Given the description of an element on the screen output the (x, y) to click on. 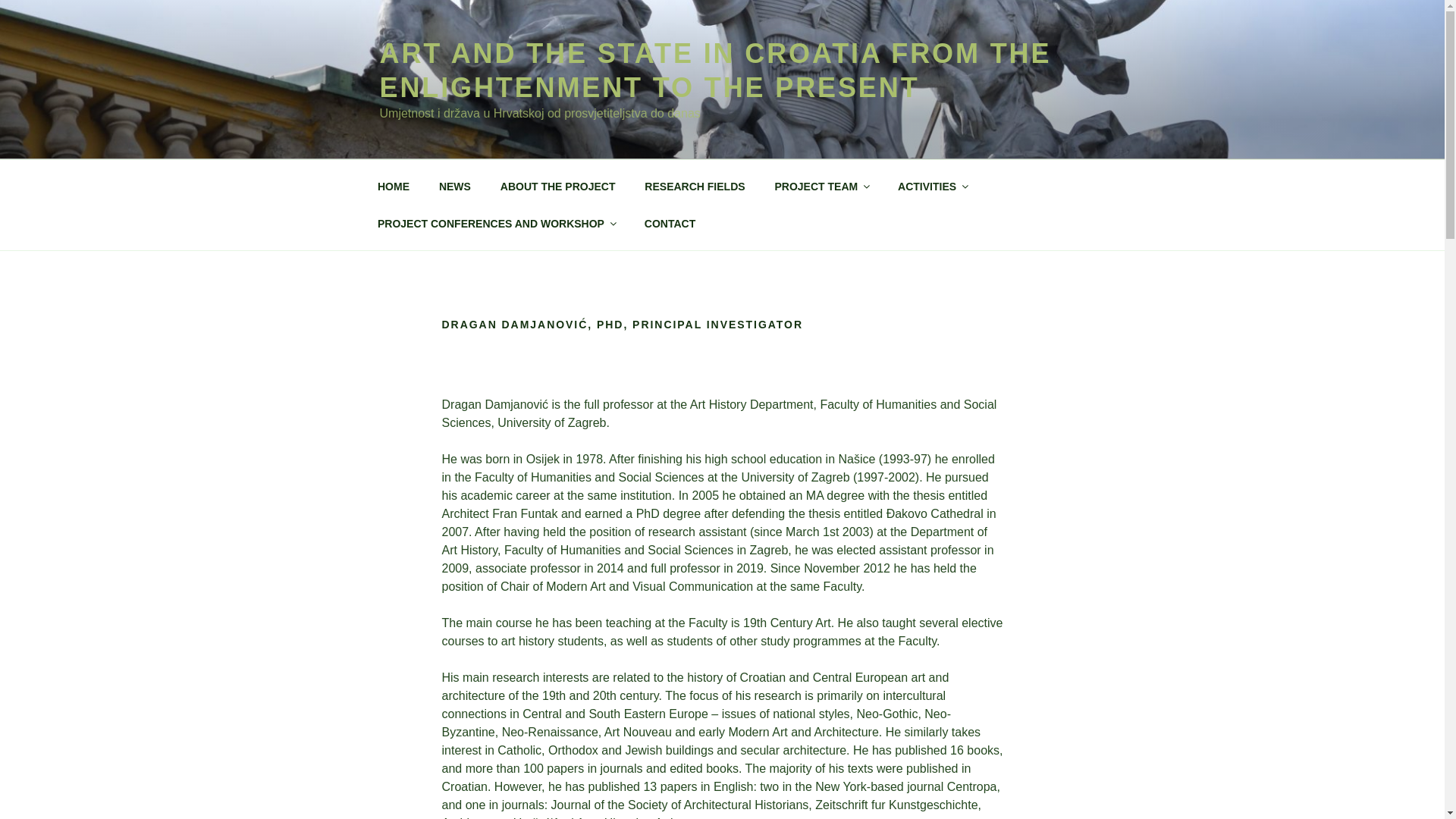
PROJECT TEAM (821, 186)
RESEARCH FIELDS (694, 186)
NEWS (454, 186)
ACTIVITIES (932, 186)
ABOUT THE PROJECT (557, 186)
PROJECT CONFERENCES AND WORKSHOP (495, 222)
CONTACT (668, 222)
HOME (393, 186)
